Given the description of an element on the screen output the (x, y) to click on. 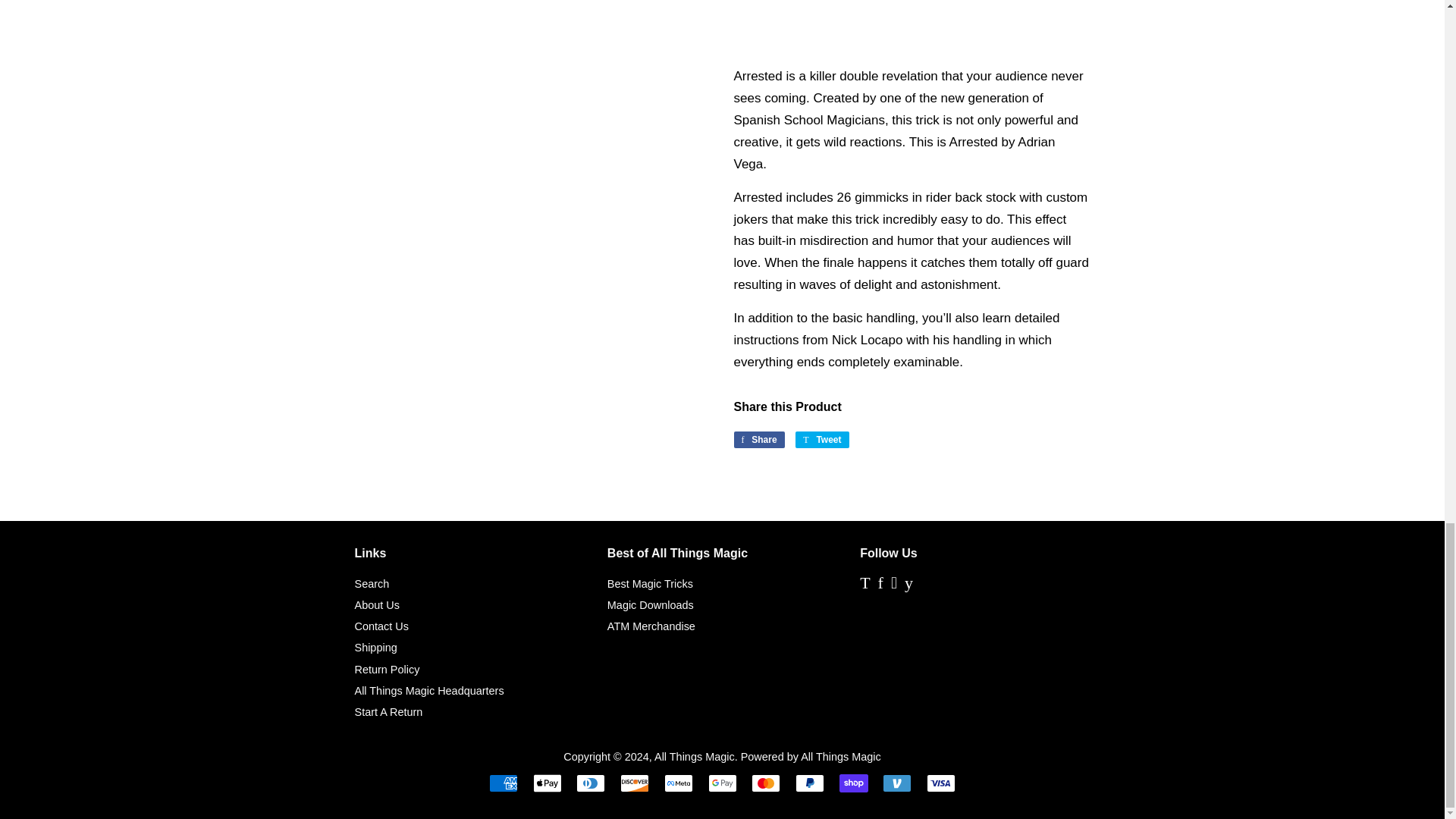
Apple Pay (547, 782)
Tweet on Twitter (821, 439)
American Express (503, 782)
Visa (940, 782)
Diners Club (590, 782)
YouTube video player (911, 29)
Discover (634, 782)
Google Pay (721, 782)
Shop Pay (853, 782)
Mastercard (765, 782)
